Given the description of an element on the screen output the (x, y) to click on. 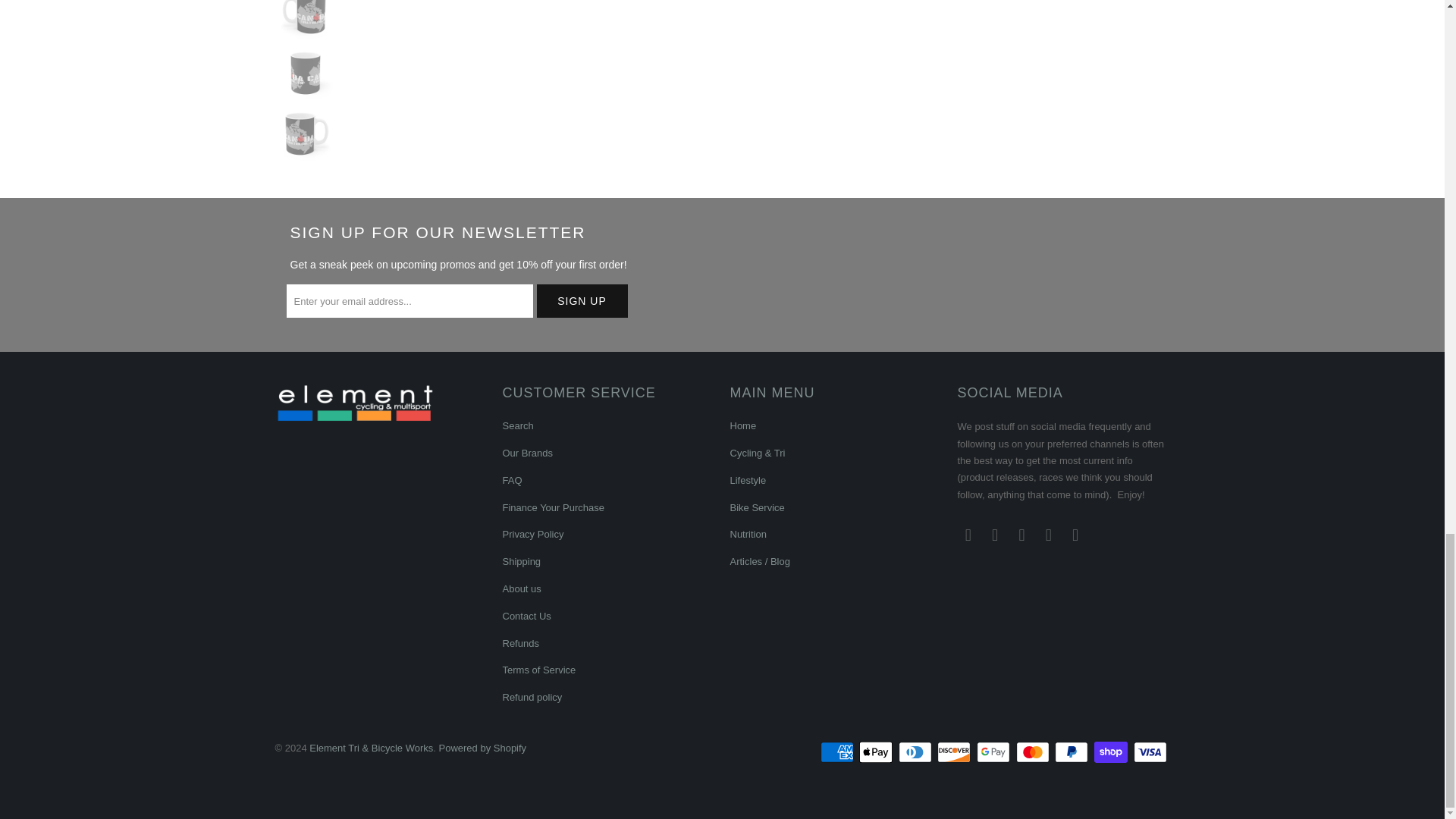
Diners Club (916, 752)
Google Pay (994, 752)
PayPal (1072, 752)
Mastercard (1034, 752)
Shop Pay (1112, 752)
Visa (1150, 752)
Discover (955, 752)
Sign Up (582, 300)
Apple Pay (877, 752)
American Express (839, 752)
